Given the description of an element on the screen output the (x, y) to click on. 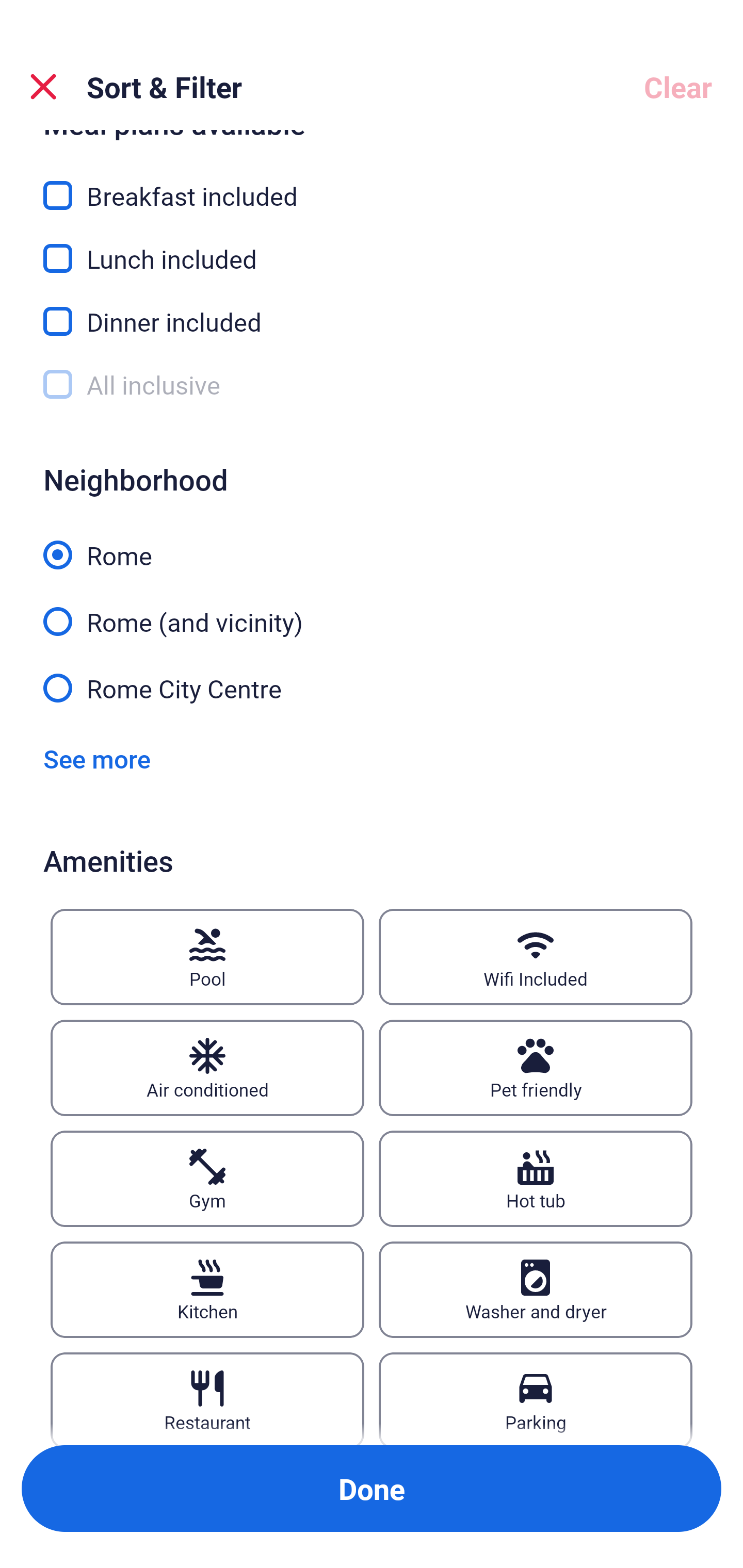
Close Sort and Filter (43, 86)
Clear (677, 86)
Breakfast included, Breakfast included (371, 184)
Lunch included, Lunch included (371, 247)
Dinner included, Dinner included (371, 310)
All inclusive, All inclusive (371, 384)
Rome (and vicinity) (371, 610)
Rome City Centre (371, 687)
See more See more neighborhoods Link (96, 758)
Pool (207, 957)
Wifi Included (535, 957)
Air conditioned (207, 1067)
Pet friendly (535, 1067)
Gym (207, 1178)
Hot tub (535, 1178)
Kitchen (207, 1289)
Washer and dryer (535, 1289)
Restaurant (207, 1398)
Parking (535, 1398)
Apply and close Sort and Filter Done (371, 1488)
